Given the description of an element on the screen output the (x, y) to click on. 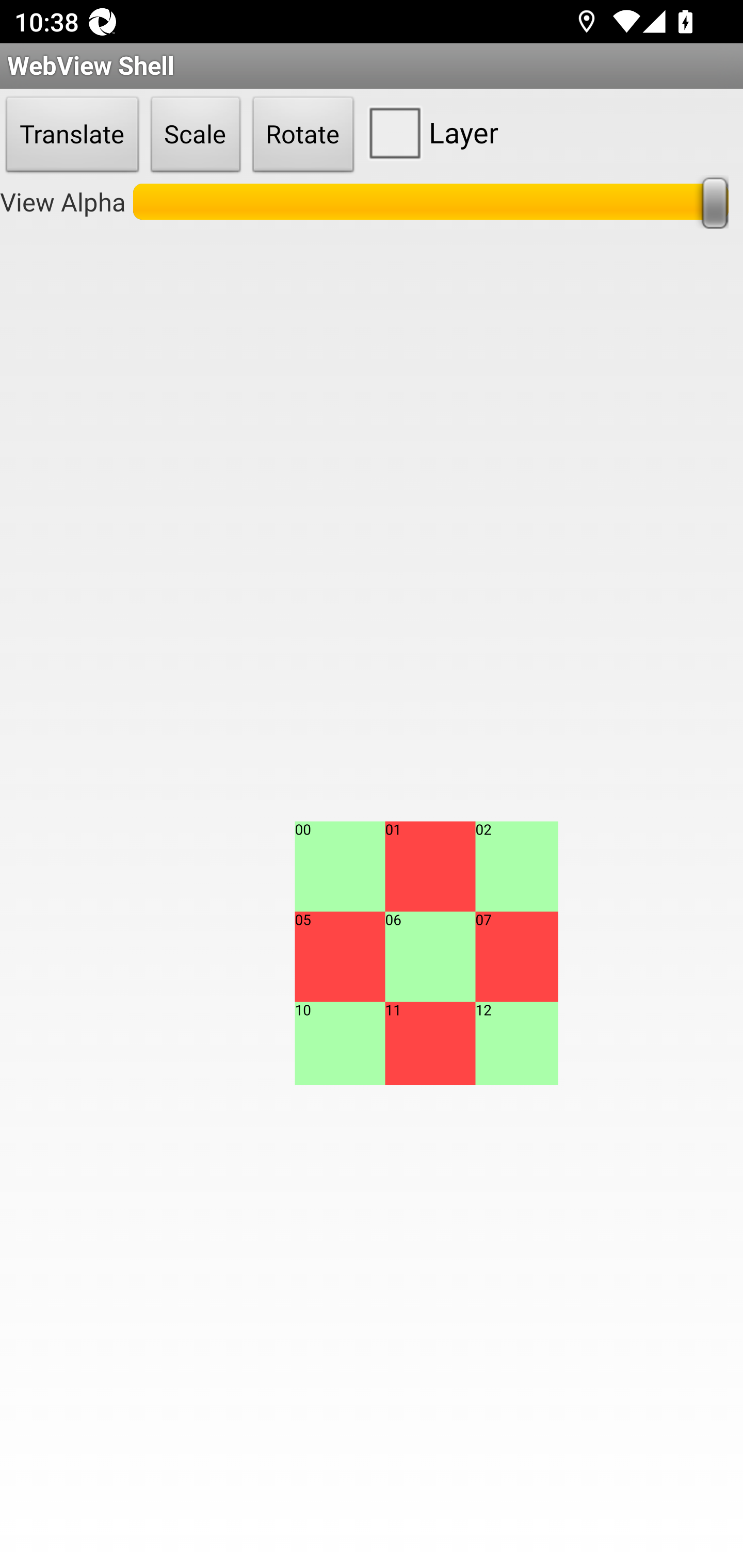
Layer (429, 132)
Translate (72, 135)
Scale (195, 135)
Rotate (303, 135)
